Given the description of an element on the screen output the (x, y) to click on. 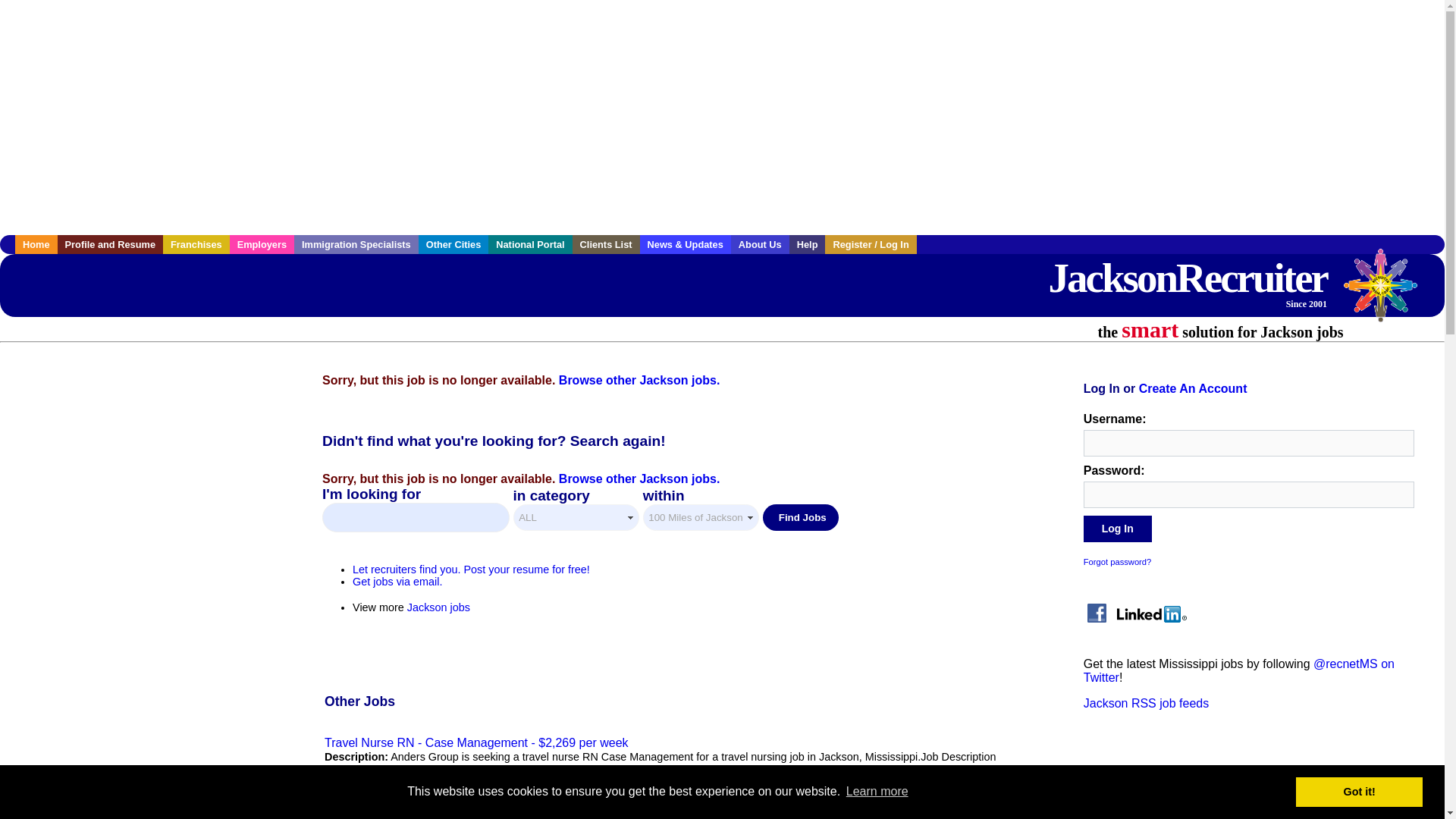
Got it! (1358, 791)
Browse other Jackson jobs. (639, 478)
Create An Account (1192, 388)
Find Jobs (800, 517)
Jackson  job seekers (110, 244)
Recruiter Networks (1387, 292)
Find Jobs (800, 517)
Franchises (196, 244)
Jackson  help (807, 244)
Let recruiters find you. Post your resume for free! (470, 569)
Log In (1117, 528)
Jackson  home (36, 244)
Jackson jobs (438, 607)
Get jobs via email. (397, 581)
